Given the description of an element on the screen output the (x, y) to click on. 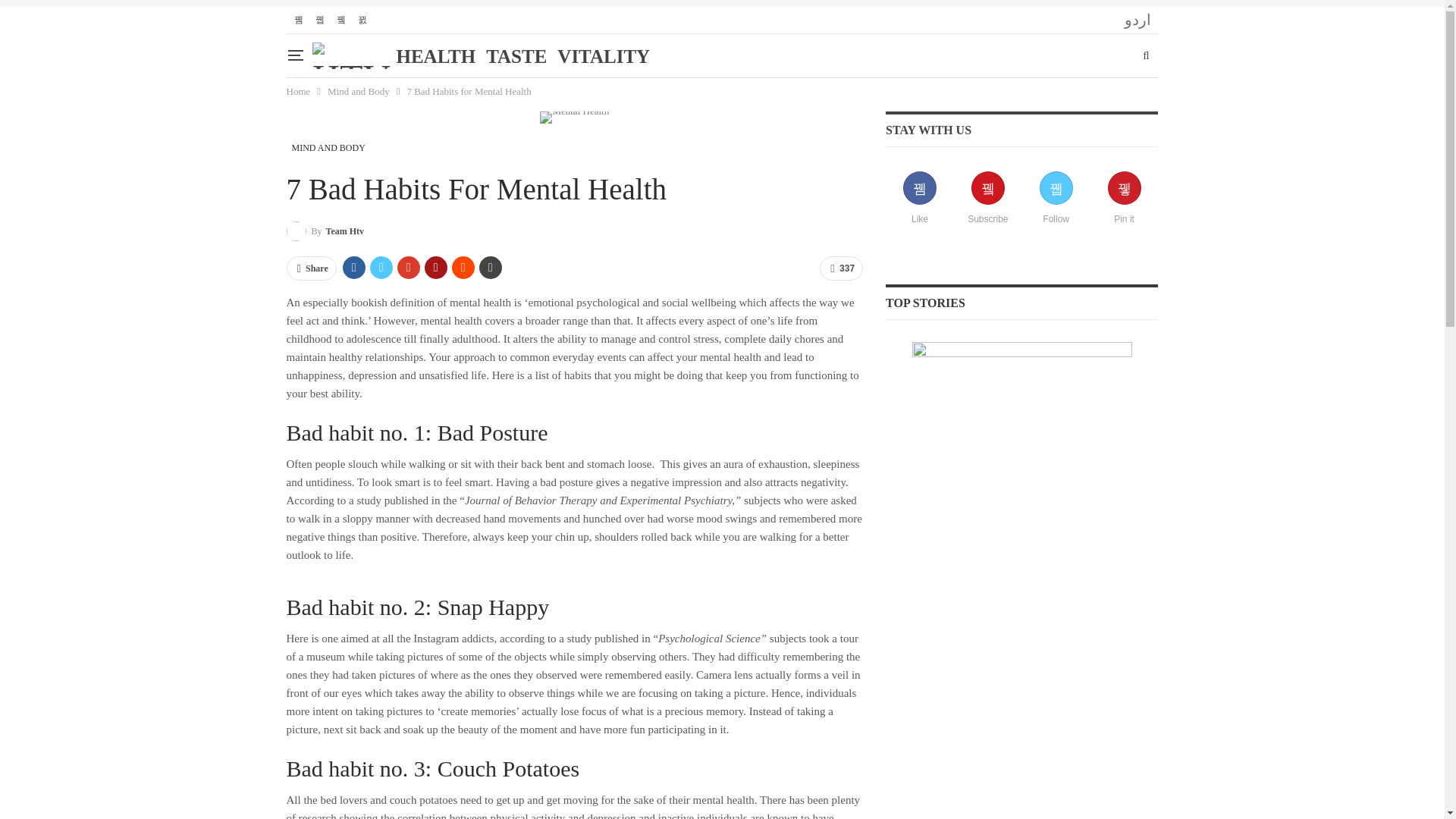
Mind and Body (358, 91)
HTV Urdu (1137, 19)
HEALTH (436, 56)
Home (298, 91)
By Team Htv (325, 230)
VITALITY (603, 56)
MIND AND BODY (328, 147)
TASTE (515, 56)
Browse Author Articles (325, 230)
